Given the description of an element on the screen output the (x, y) to click on. 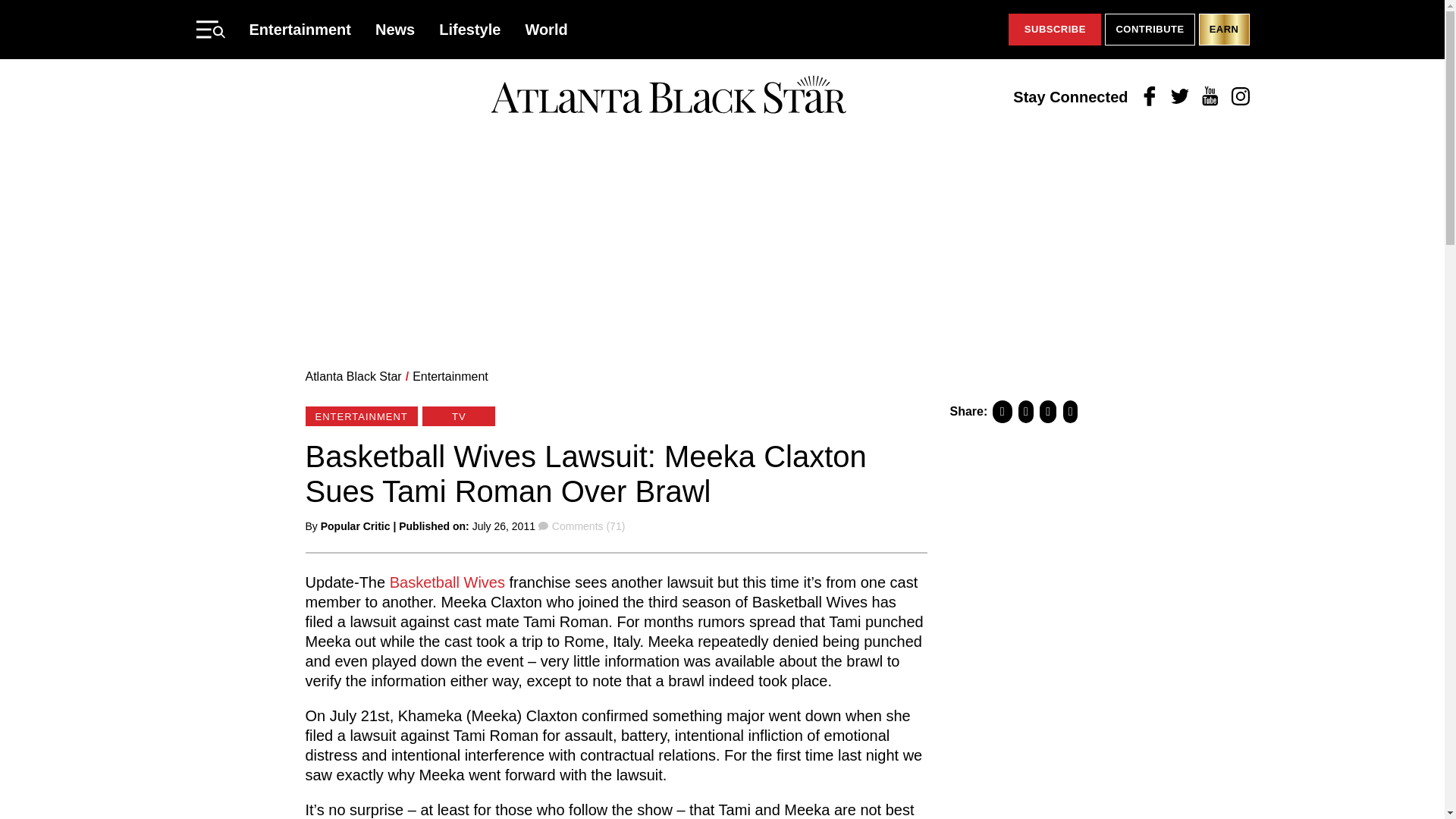
Go to Atlanta Black Star. (352, 376)
CONTRIBUTE (1149, 29)
EARN (1223, 29)
Entertainment (299, 29)
World (545, 29)
Primary Menu (209, 29)
Go to the Entertainment Category archives. (449, 376)
Twitter (1179, 96)
Atlanta Black Star (352, 376)
SUBSCRIBE (1054, 29)
Facebook (1149, 96)
Youtube (1210, 96)
Atlanta Black Star (667, 96)
News (394, 29)
Entertainment (449, 376)
